Given the description of an element on the screen output the (x, y) to click on. 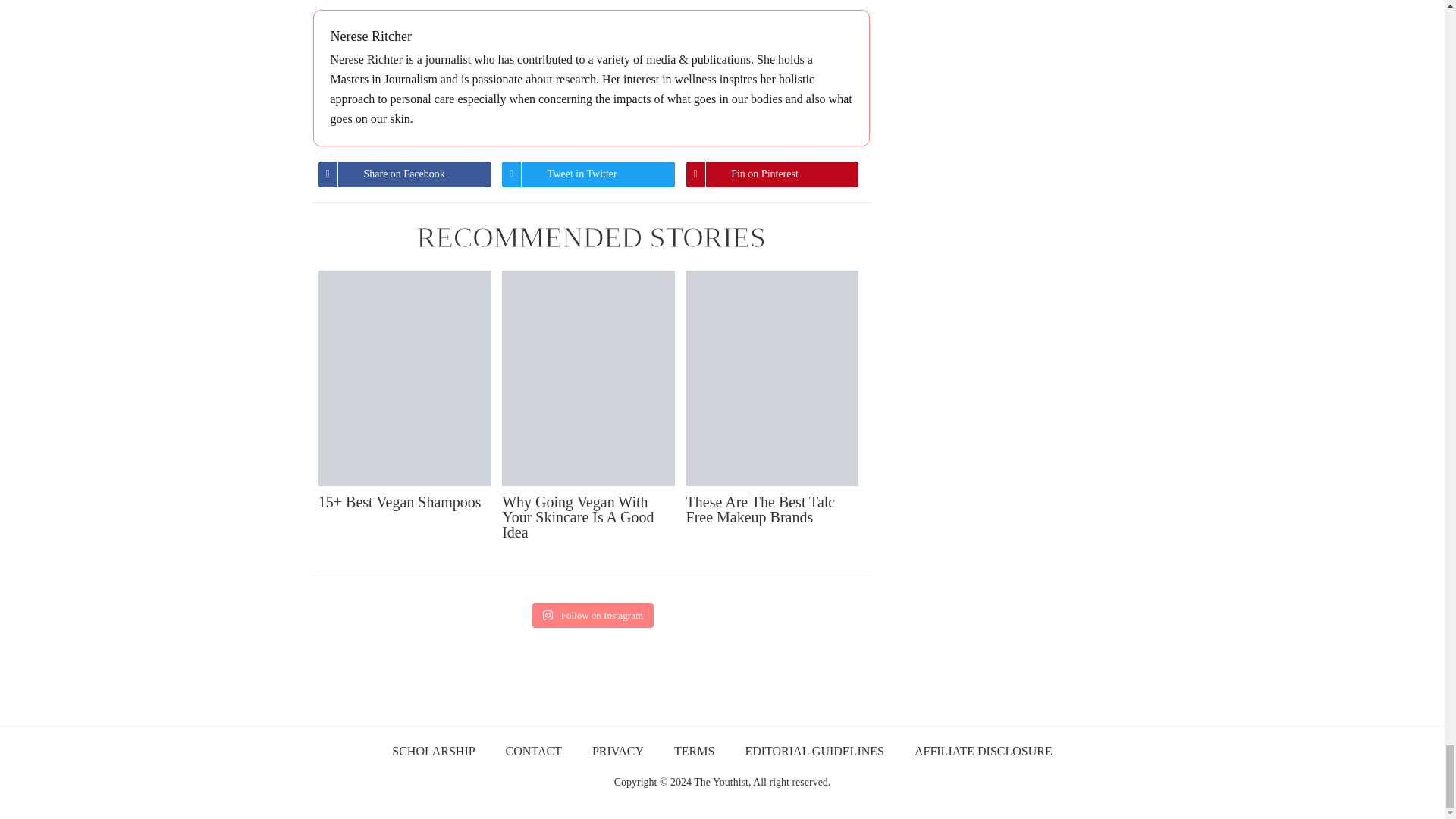
Twitter (559, 173)
Facebook (381, 173)
